Given the description of an element on the screen output the (x, y) to click on. 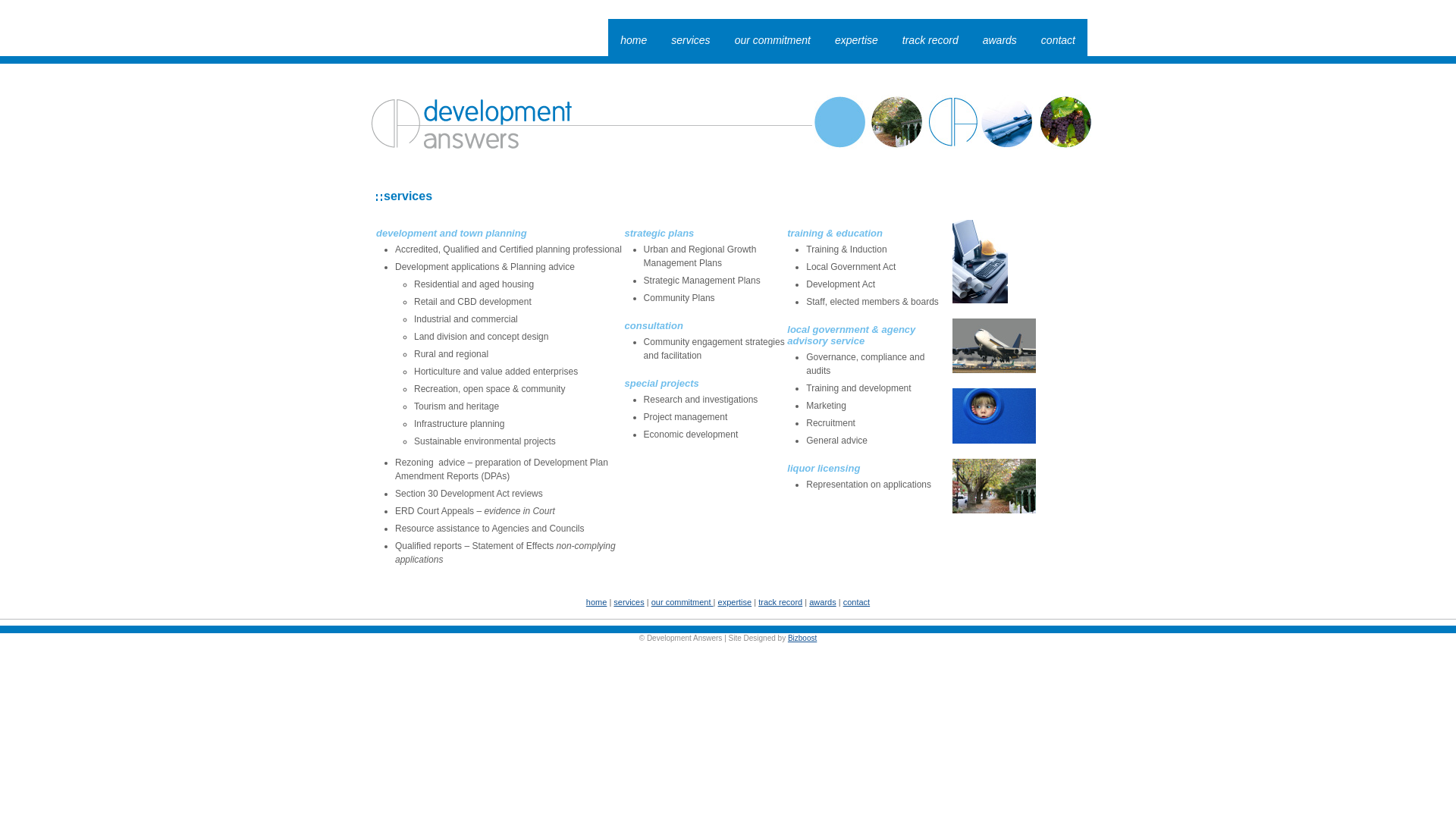
contact Element type: text (1058, 39)
awards Element type: text (822, 601)
contact Element type: text (856, 601)
services Element type: text (628, 601)
services Element type: text (689, 39)
home Element type: text (633, 39)
expertise Element type: text (735, 601)
track record Element type: text (930, 39)
home Element type: text (596, 601)
expertise Element type: text (856, 39)
track record Element type: text (780, 601)
awards Element type: text (999, 39)
Bizboost Element type: text (801, 637)
our commitment Element type: text (682, 601)
our commitment Element type: text (772, 39)
